Given the description of an element on the screen output the (x, y) to click on. 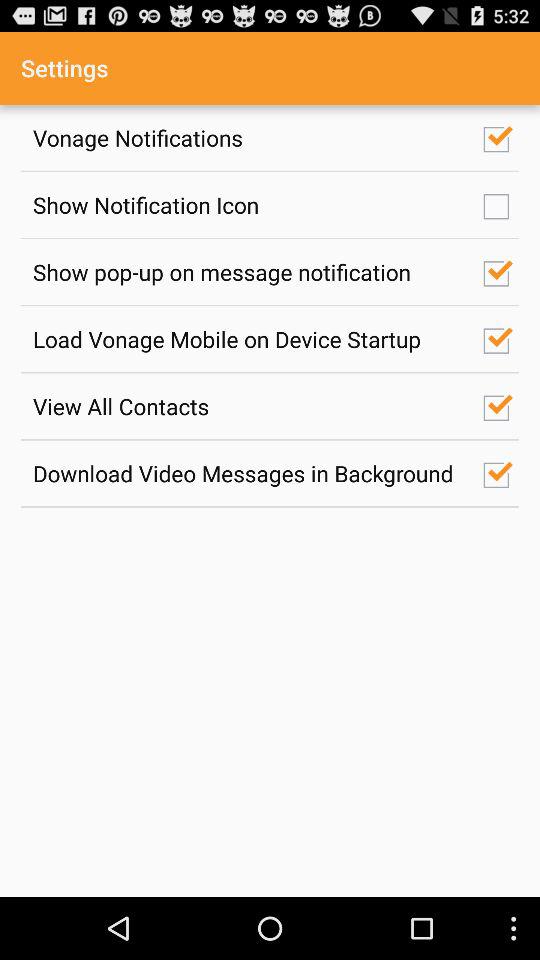
flip to the view all contacts item (247, 406)
